Given the description of an element on the screen output the (x, y) to click on. 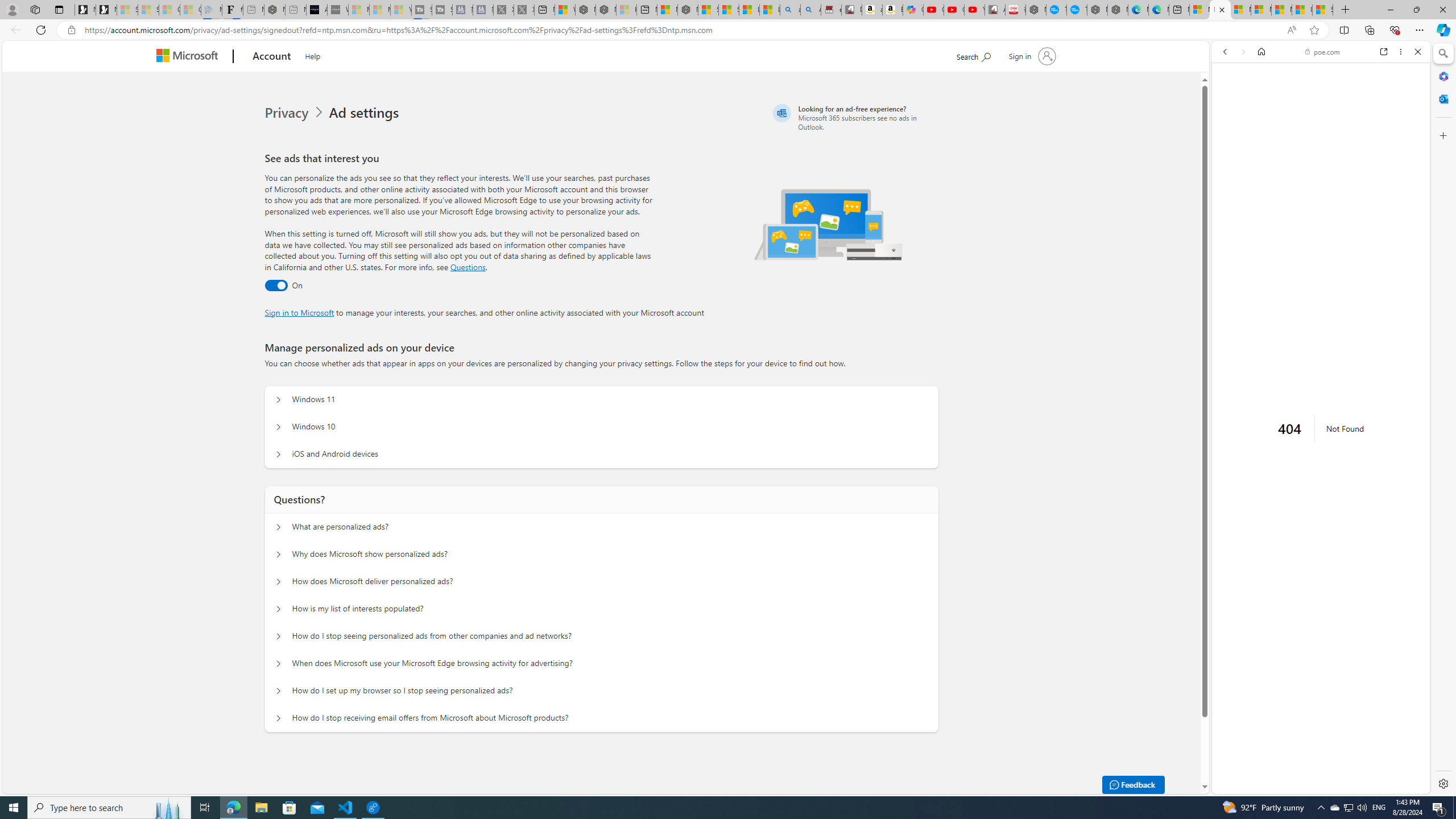
Fast AI Chat (1320, 282)
Copilot (913, 9)
Explore poe (1315, 748)
Manage personalized ads on your device Windows 10 (278, 427)
Newsletter Sign Up (106, 9)
Questions? How does Microsoft deliver personalized ads? (278, 581)
